Given the description of an element on the screen output the (x, y) to click on. 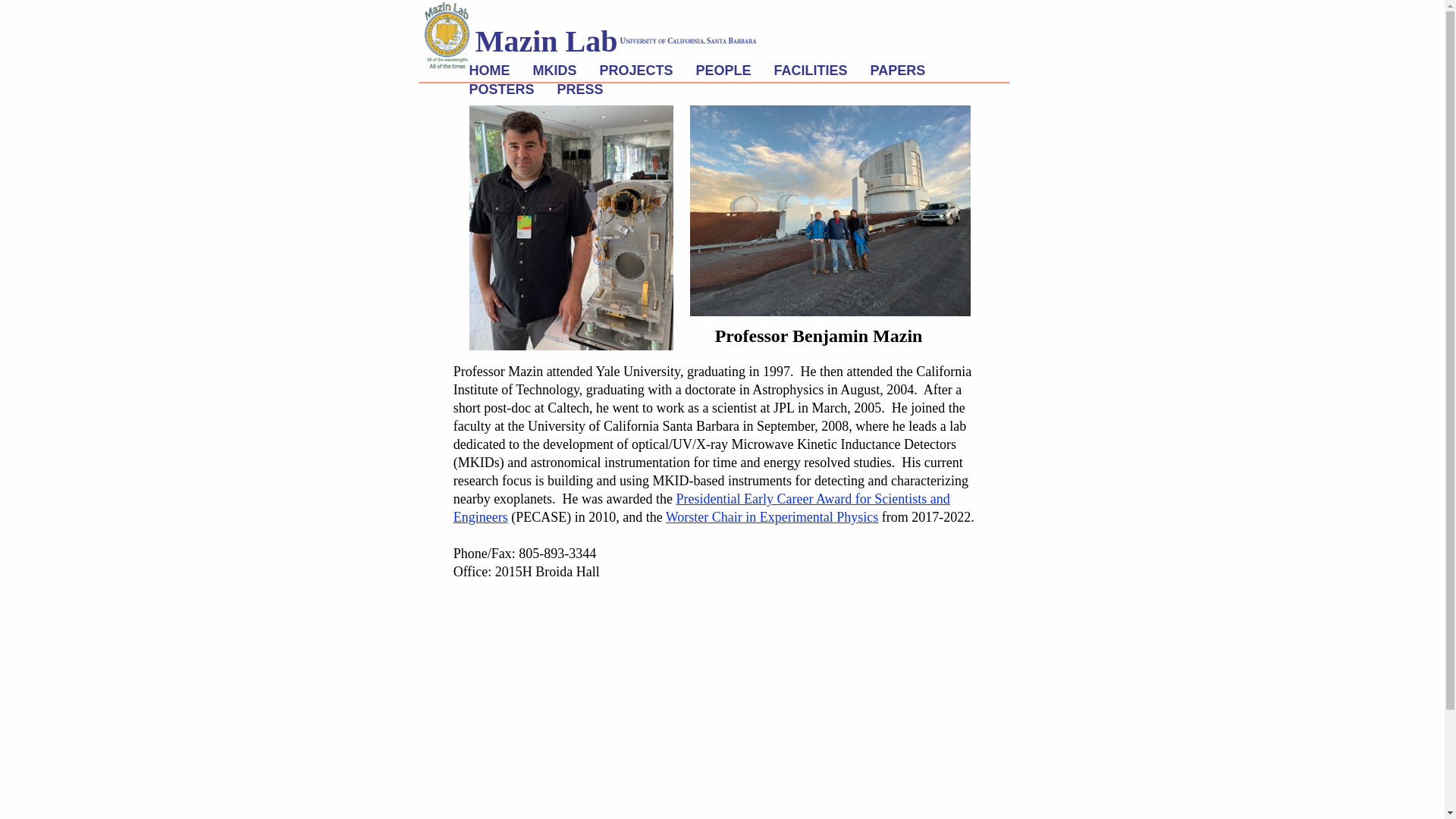
PAPERS (898, 70)
PROJECTS (635, 70)
FACILITIES (810, 70)
Worster Chair in Experimental Physics (772, 516)
HOME (488, 70)
Presidential Early Career Award for Scientists and Engineers (701, 507)
PEOPLE (723, 70)
PRESS (580, 89)
MKIDS (554, 70)
POSTERS (501, 89)
